Given the description of an element on the screen output the (x, y) to click on. 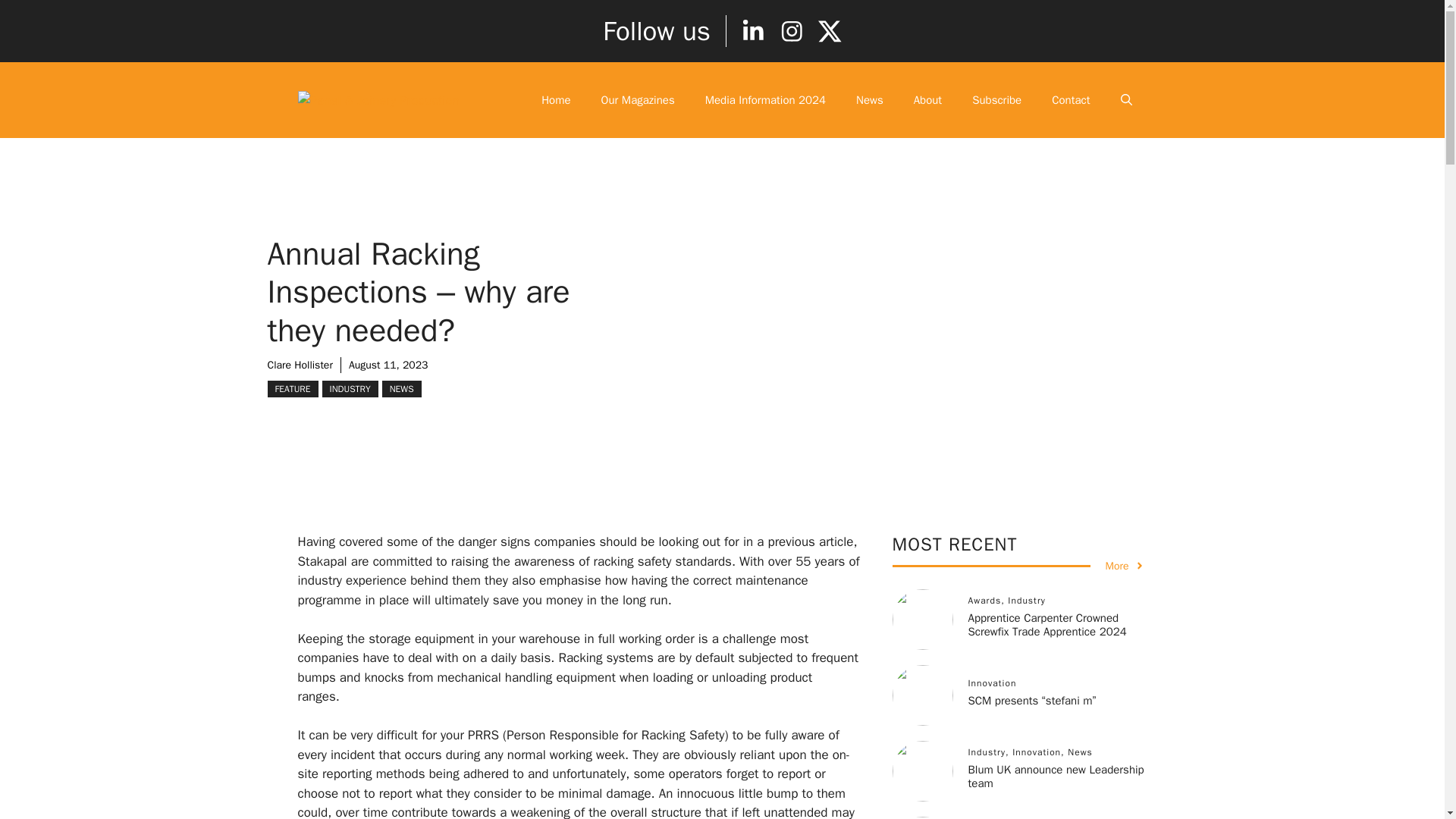
More (1124, 565)
Home (555, 99)
NEWS (401, 388)
FEATURE (291, 388)
INDUSTRY (349, 388)
Blum UK announce new Leadership team (1055, 776)
News (869, 99)
Clare Hollister (298, 364)
Media Information 2024 (765, 99)
Contact (1070, 99)
Apprentice Carpenter Crowned Screwfix Trade Apprentice 2024 (1046, 624)
Subscribe (996, 99)
Our Magazines (638, 99)
About (927, 99)
